Given the description of an element on the screen output the (x, y) to click on. 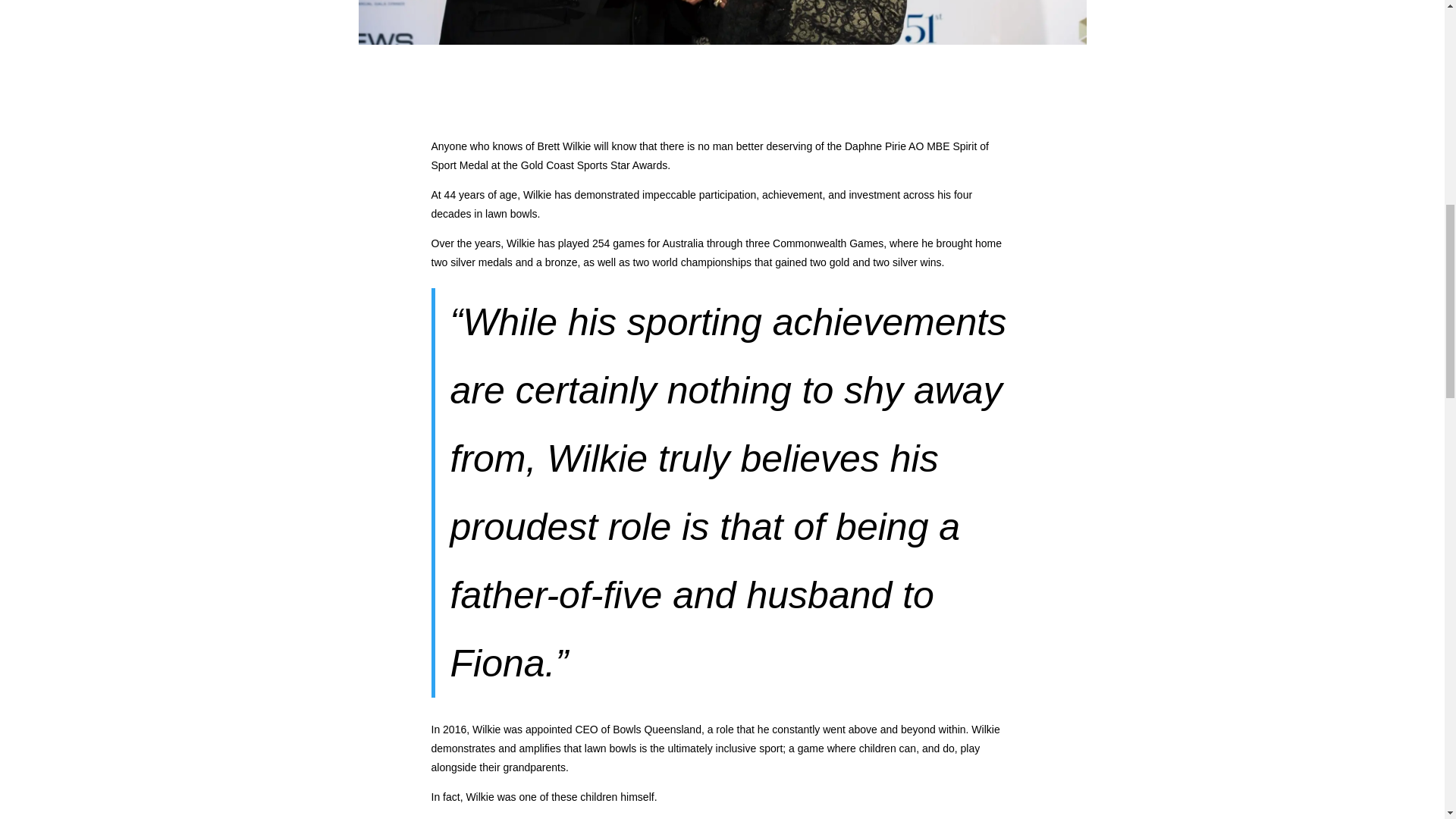
Brett Wilkie (722, 22)
